Given the description of an element on the screen output the (x, y) to click on. 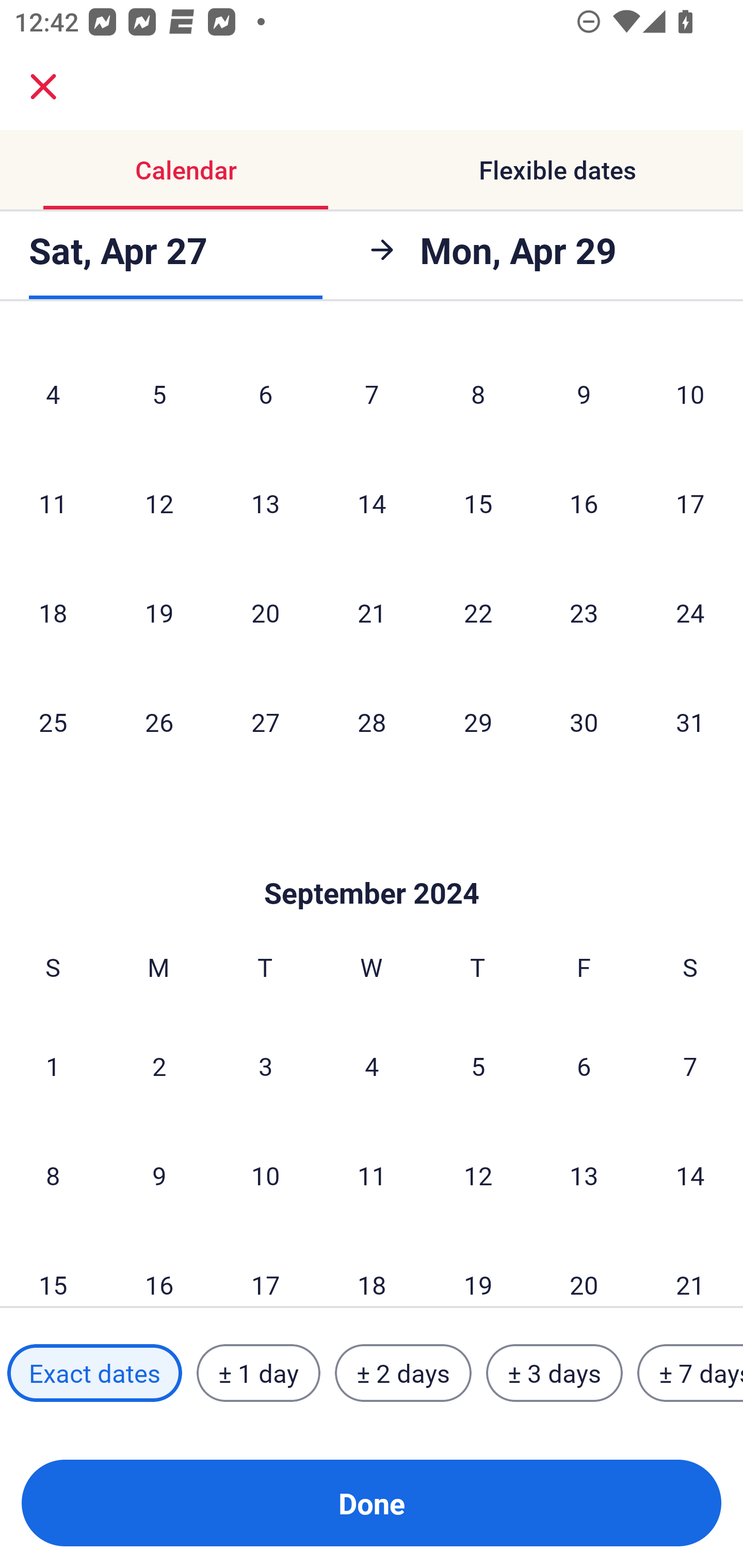
close. (43, 86)
Flexible dates (557, 170)
4 Sunday, August 4, 2024 (53, 393)
5 Monday, August 5, 2024 (159, 393)
6 Tuesday, August 6, 2024 (265, 393)
7 Wednesday, August 7, 2024 (371, 393)
8 Thursday, August 8, 2024 (477, 393)
9 Friday, August 9, 2024 (584, 393)
10 Saturday, August 10, 2024 (690, 393)
11 Sunday, August 11, 2024 (53, 503)
12 Monday, August 12, 2024 (159, 503)
13 Tuesday, August 13, 2024 (265, 503)
14 Wednesday, August 14, 2024 (371, 503)
15 Thursday, August 15, 2024 (477, 503)
16 Friday, August 16, 2024 (584, 503)
17 Saturday, August 17, 2024 (690, 503)
18 Sunday, August 18, 2024 (53, 611)
19 Monday, August 19, 2024 (159, 611)
20 Tuesday, August 20, 2024 (265, 611)
21 Wednesday, August 21, 2024 (371, 611)
22 Thursday, August 22, 2024 (477, 611)
23 Friday, August 23, 2024 (584, 611)
24 Saturday, August 24, 2024 (690, 611)
25 Sunday, August 25, 2024 (53, 721)
26 Monday, August 26, 2024 (159, 721)
27 Tuesday, August 27, 2024 (265, 721)
28 Wednesday, August 28, 2024 (371, 721)
29 Thursday, August 29, 2024 (477, 721)
30 Friday, August 30, 2024 (584, 721)
31 Saturday, August 31, 2024 (690, 721)
Skip to Done (371, 862)
1 Sunday, September 1, 2024 (53, 1064)
2 Monday, September 2, 2024 (159, 1064)
3 Tuesday, September 3, 2024 (265, 1064)
4 Wednesday, September 4, 2024 (371, 1064)
5 Thursday, September 5, 2024 (477, 1064)
6 Friday, September 6, 2024 (584, 1064)
7 Saturday, September 7, 2024 (690, 1064)
8 Sunday, September 8, 2024 (53, 1174)
9 Monday, September 9, 2024 (159, 1174)
10 Tuesday, September 10, 2024 (265, 1174)
11 Wednesday, September 11, 2024 (371, 1174)
12 Thursday, September 12, 2024 (477, 1174)
13 Friday, September 13, 2024 (584, 1174)
14 Saturday, September 14, 2024 (690, 1174)
15 Sunday, September 15, 2024 (53, 1269)
16 Monday, September 16, 2024 (159, 1269)
17 Tuesday, September 17, 2024 (265, 1269)
18 Wednesday, September 18, 2024 (371, 1269)
19 Thursday, September 19, 2024 (477, 1269)
